Given the description of an element on the screen output the (x, y) to click on. 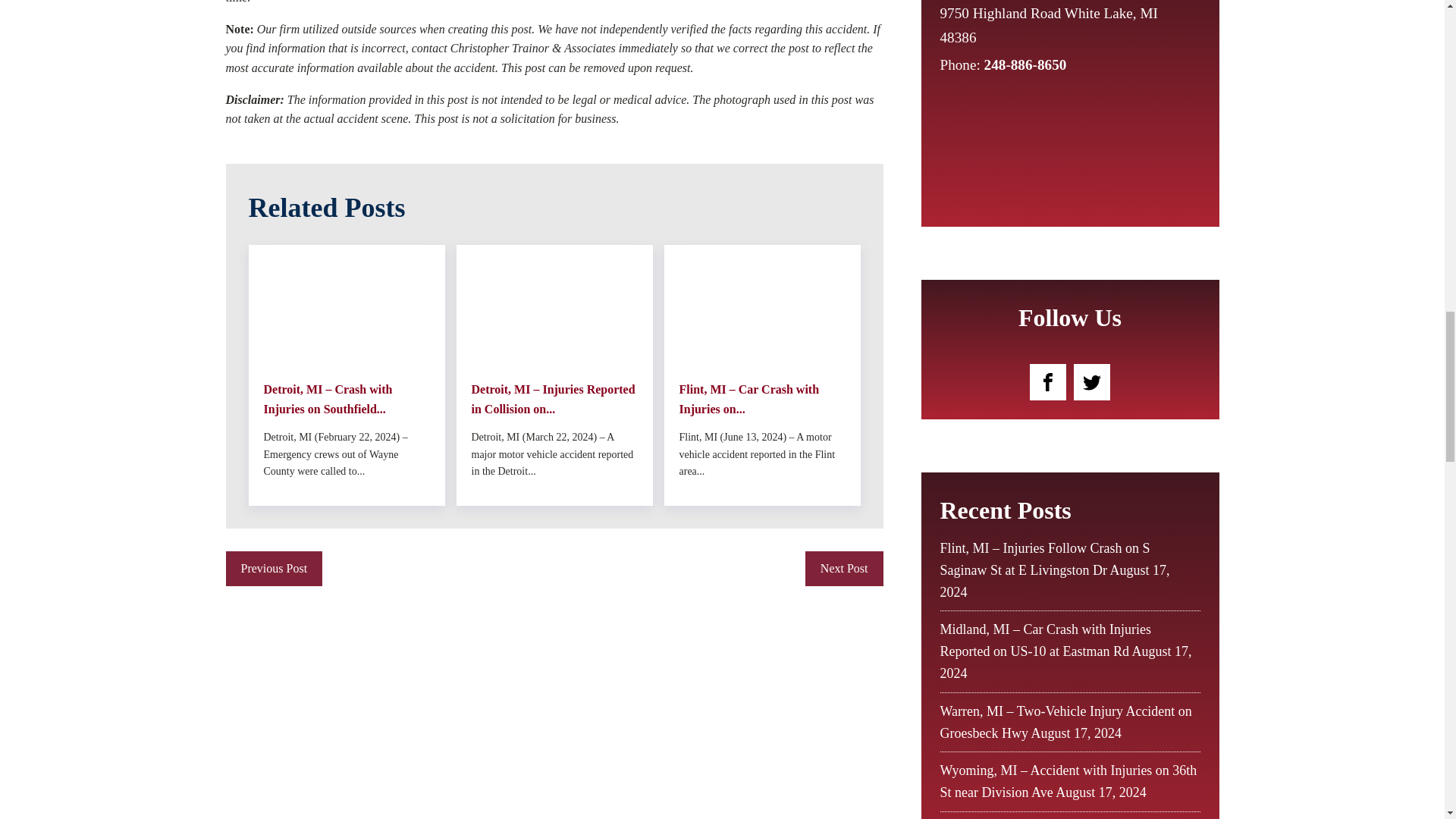
Next Post (844, 568)
9750 Highland Road White Lake, MI 48386 (1056, 25)
Previous Post (274, 568)
248-886-8650 (1025, 64)
